Given the description of an element on the screen output the (x, y) to click on. 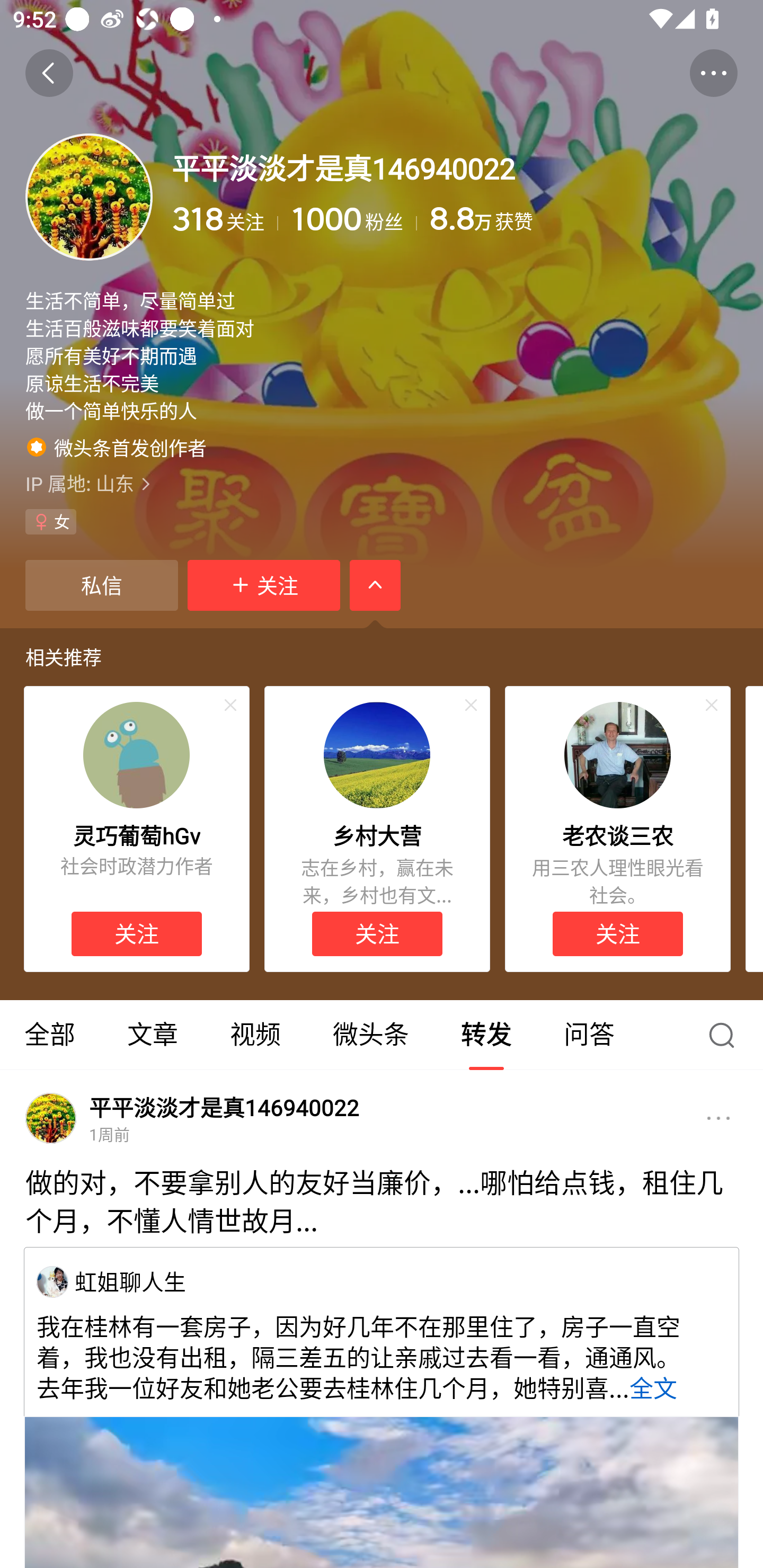
返回 (49, 72)
更多操作 (713, 72)
头像 (88, 196)
318 关注 (224, 219)
1000 粉丝 (353, 219)
8.8万 获赞 (583, 219)
微头条首发创作者 (116, 446)
IP 属地: 山东 (381, 483)
性别女 女 (50, 521)
私信 (101, 585)
     关注 (263, 585)
收起相关推荐，按钮 (374, 585)
灵巧葡萄hGv头像 灵巧葡萄hGv 社会时政潜力作者 关注 关注 不感兴趣 (136, 829)
乡村大营头像 乡村大营 志在乡村，赢在未来，乡村也有文... 关注 关注 不感兴趣 (376, 829)
老农谈三农头像 老农谈三农 用三农人理性眼光看社会。 关注 关注 不感兴趣 (617, 829)
关注 (136, 933)
关注 (377, 933)
关注 (617, 933)
全部 (50, 1034)
文章 (152, 1034)
视频 (254, 1034)
微头条 (370, 1034)
转发 (485, 1034)
问答 (588, 1034)
搜索 (726, 1034)
平平淡淡才是真146940022 (224, 1107)
平平淡淡才是真146940022头像 (50, 1117)
更多 (718, 1117)
虹姐聊人生 (52, 1281)
虹姐聊人生 (130, 1281)
